Given the description of an element on the screen output the (x, y) to click on. 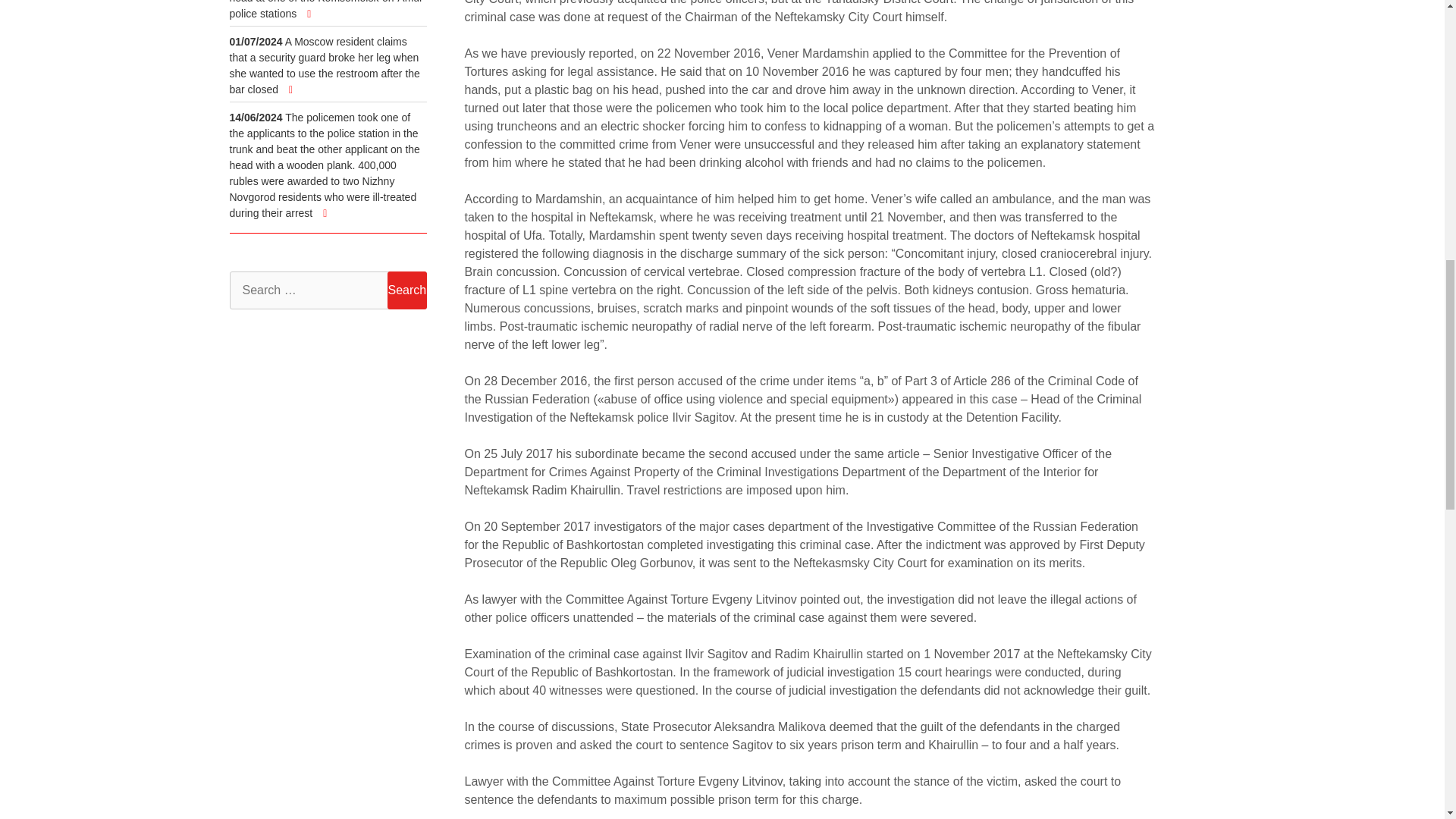
Search (406, 290)
Search (406, 290)
Search (406, 290)
